Given the description of an element on the screen output the (x, y) to click on. 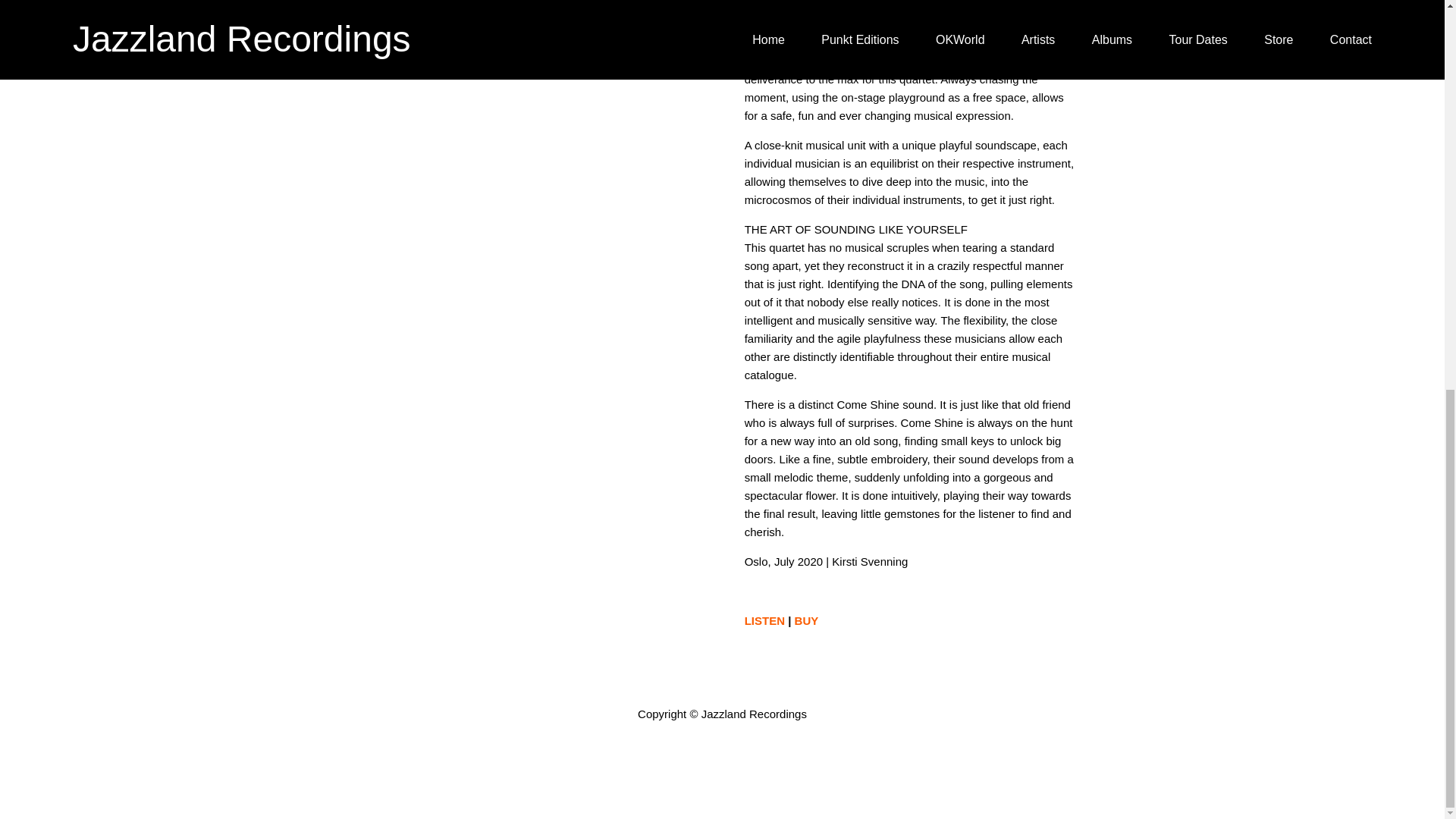
LISTEN (766, 620)
BUY (806, 620)
